Given the description of an element on the screen output the (x, y) to click on. 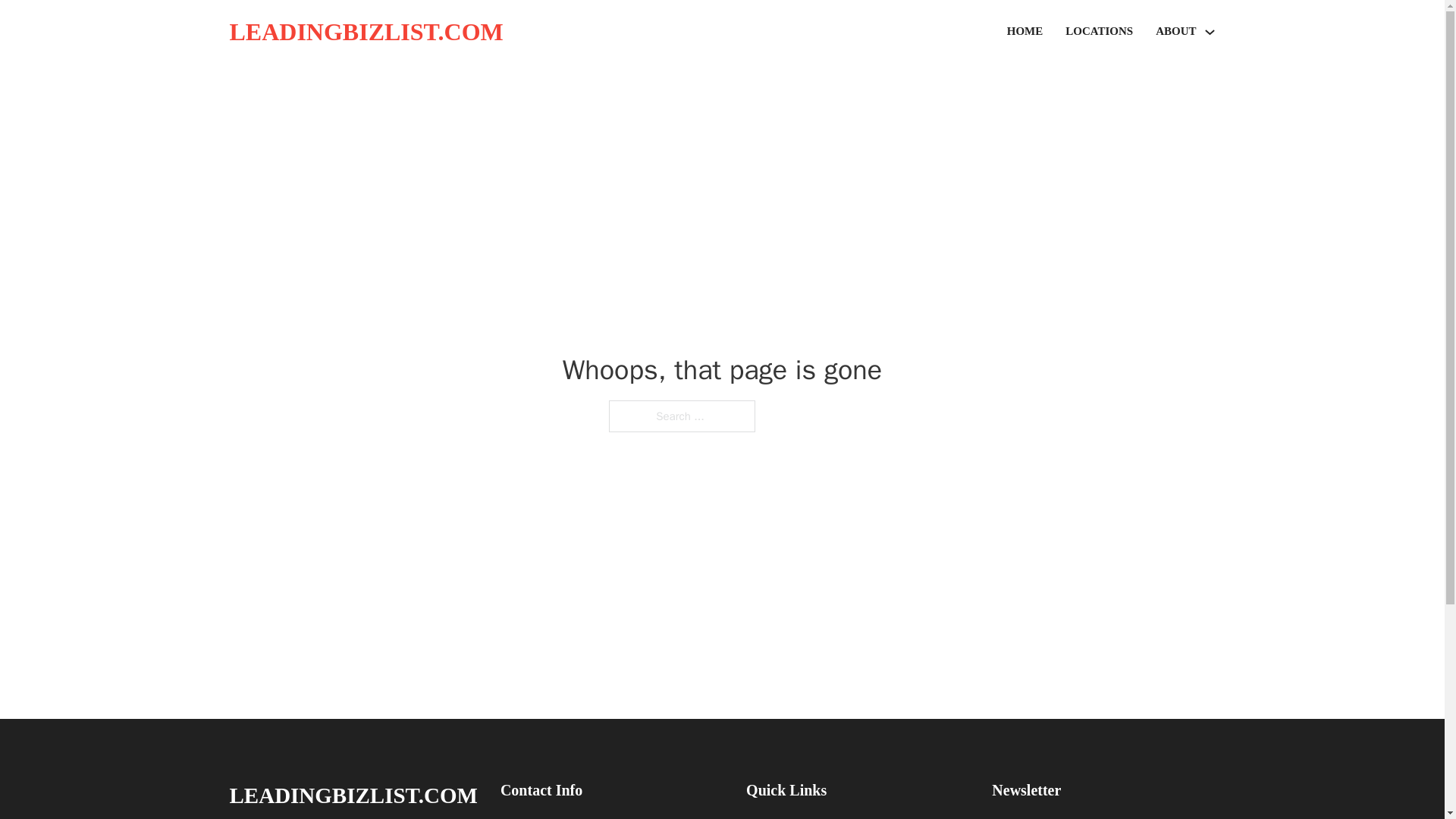
HOME (1025, 31)
LEADINGBIZLIST.COM (365, 31)
LOCATIONS (1098, 31)
LEADINGBIZLIST.COM (352, 795)
